Given the description of an element on the screen output the (x, y) to click on. 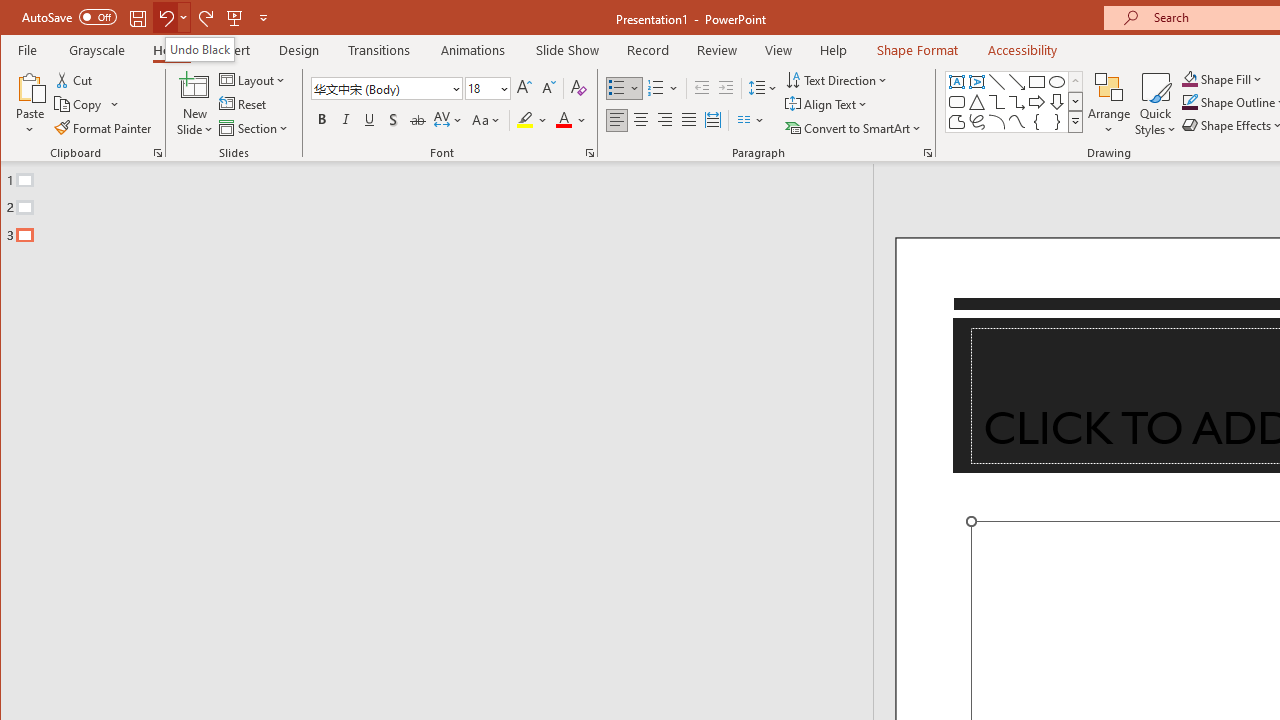
Character Spacing (449, 119)
Left Brace (1036, 121)
Bullets (623, 88)
Clear Formatting (579, 88)
Font (387, 88)
Arc (996, 121)
Text Highlight Color (532, 119)
Shape Fill Orange, Accent 2 (1189, 78)
Text Highlight Color Yellow (525, 119)
Bullets (616, 88)
Shape Fill (1222, 78)
Cut (74, 80)
Columns (751, 119)
